Given the description of an element on the screen output the (x, y) to click on. 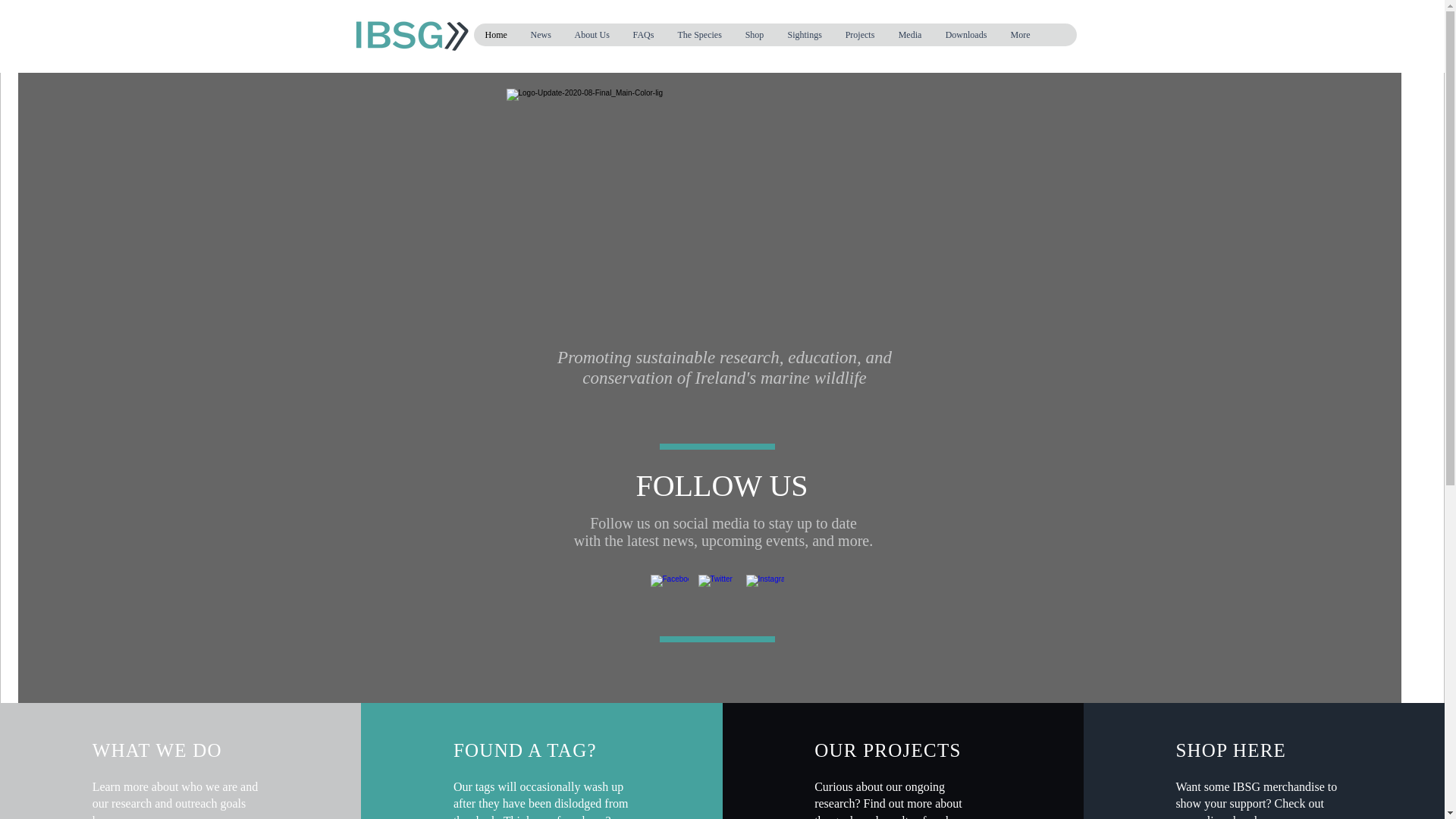
FAQs (642, 34)
BSW-Logo-FINAL-DarkBkgd-NEW-09.png (722, 223)
Shop (753, 34)
Home (495, 34)
BSW-Logo-FINAL-LightBkgd-NEW-08.png (416, 33)
